Given the description of an element on the screen output the (x, y) to click on. 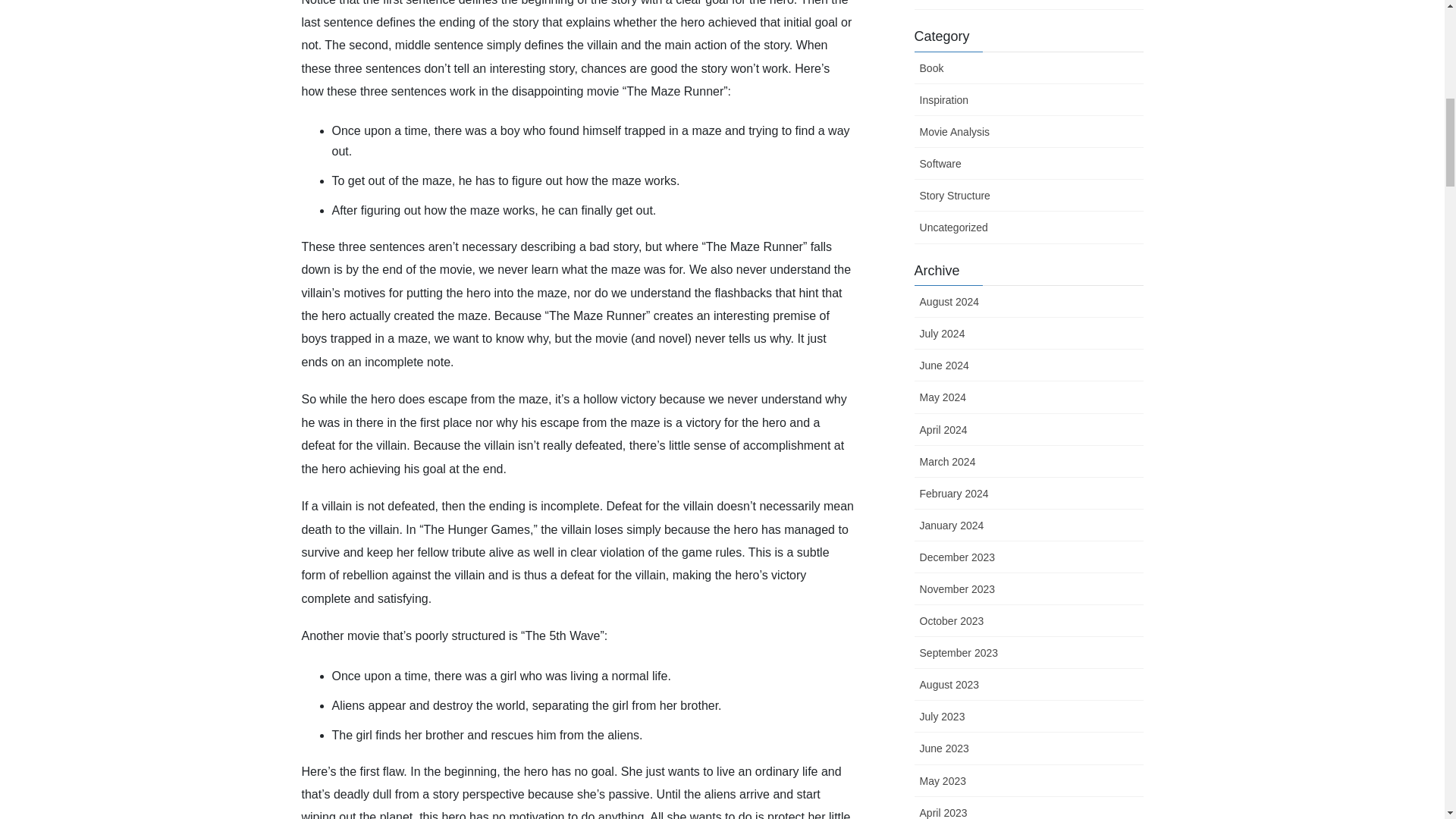
Software (1028, 163)
June 2024 (1028, 365)
Uncategorized (1028, 227)
Inspiration (1028, 100)
Movie Analysis (1028, 132)
Book (1028, 68)
May 2024 (1028, 397)
July 2024 (1028, 333)
April 2024 (1028, 429)
February 2024 (1028, 493)
